Given the description of an element on the screen output the (x, y) to click on. 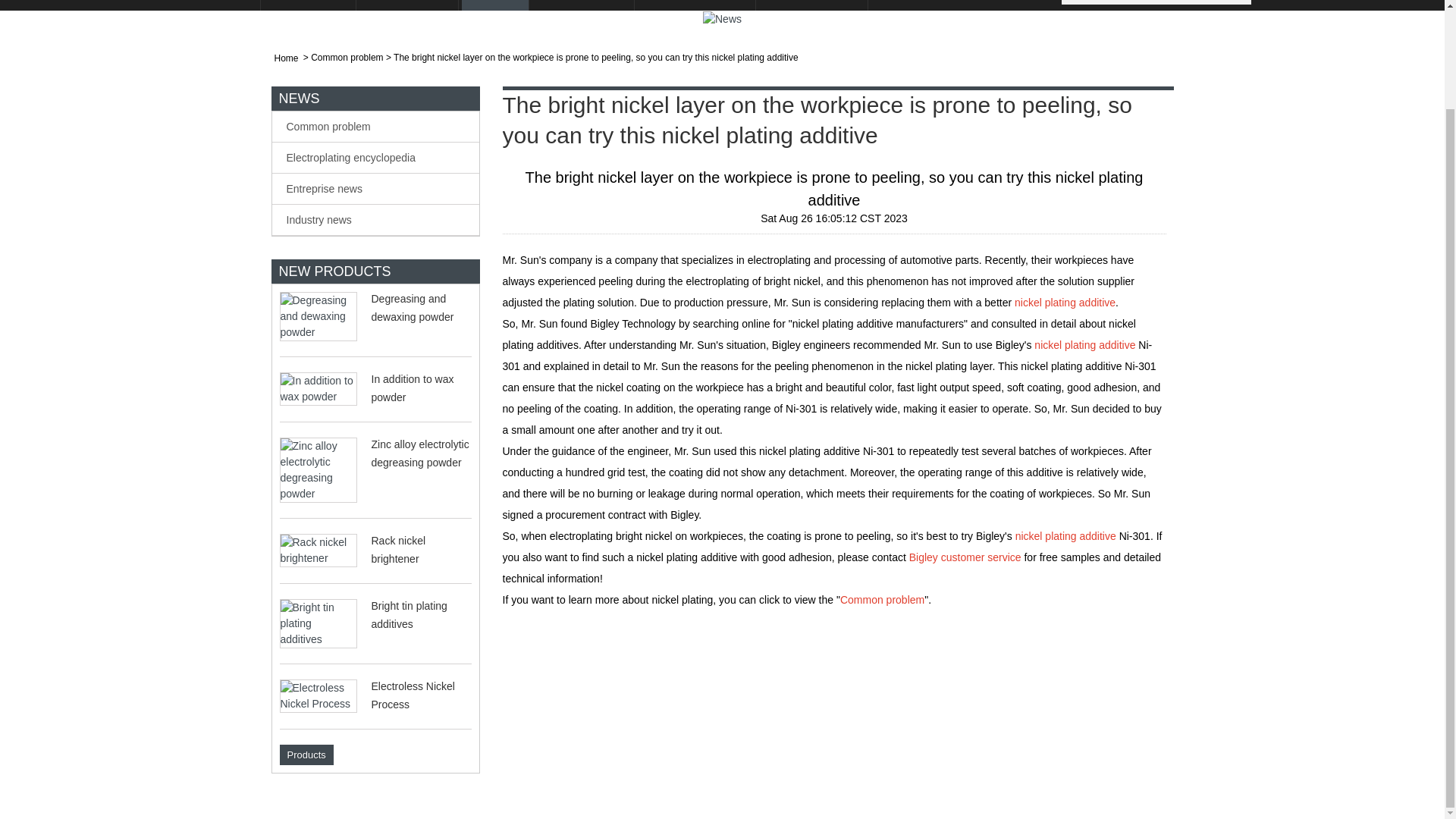
About Us (309, 5)
News (495, 5)
Products (408, 5)
Home (226, 5)
